Given the description of an element on the screen output the (x, y) to click on. 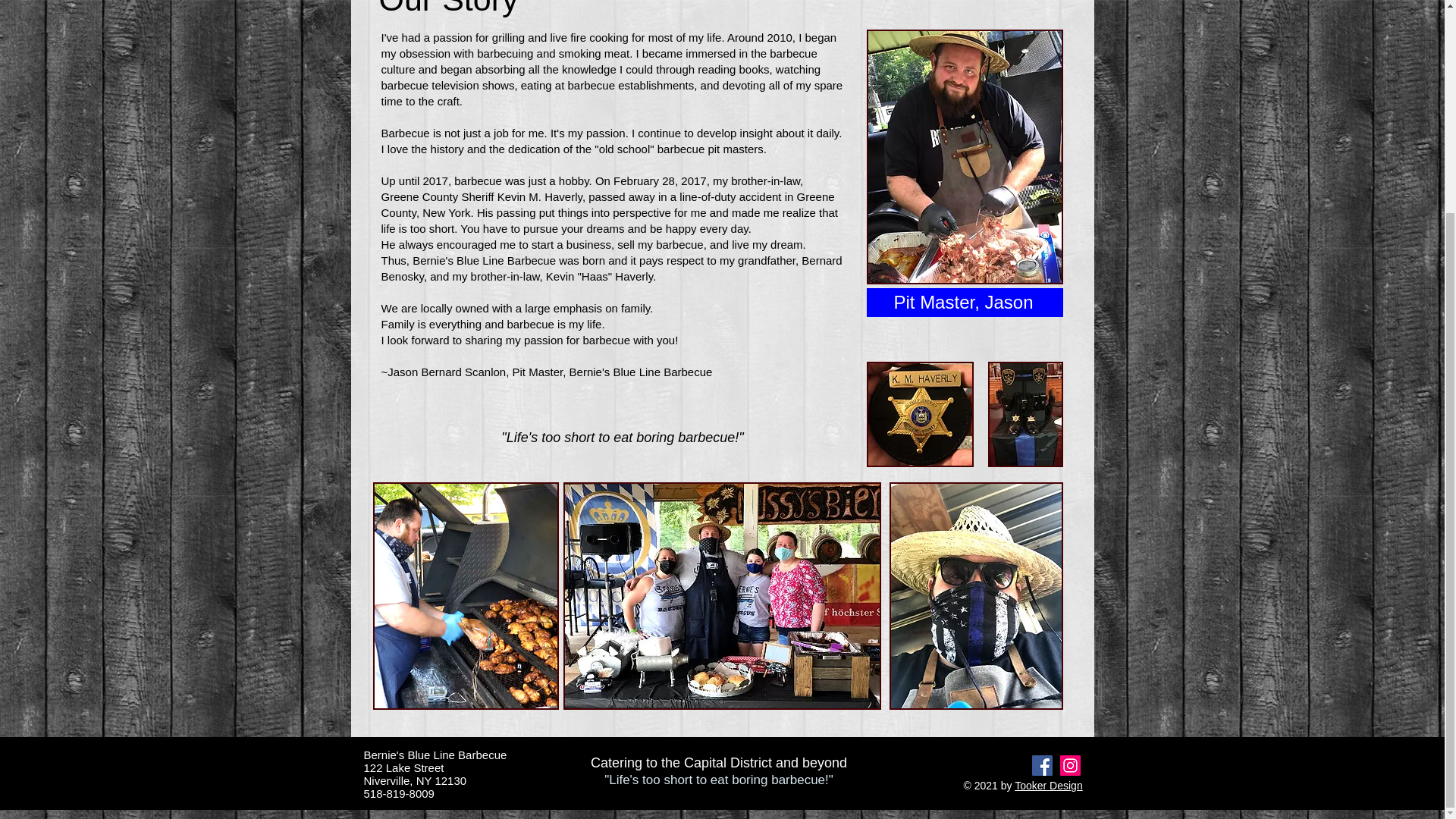
Tooker Design (1048, 785)
